Given the description of an element on the screen output the (x, y) to click on. 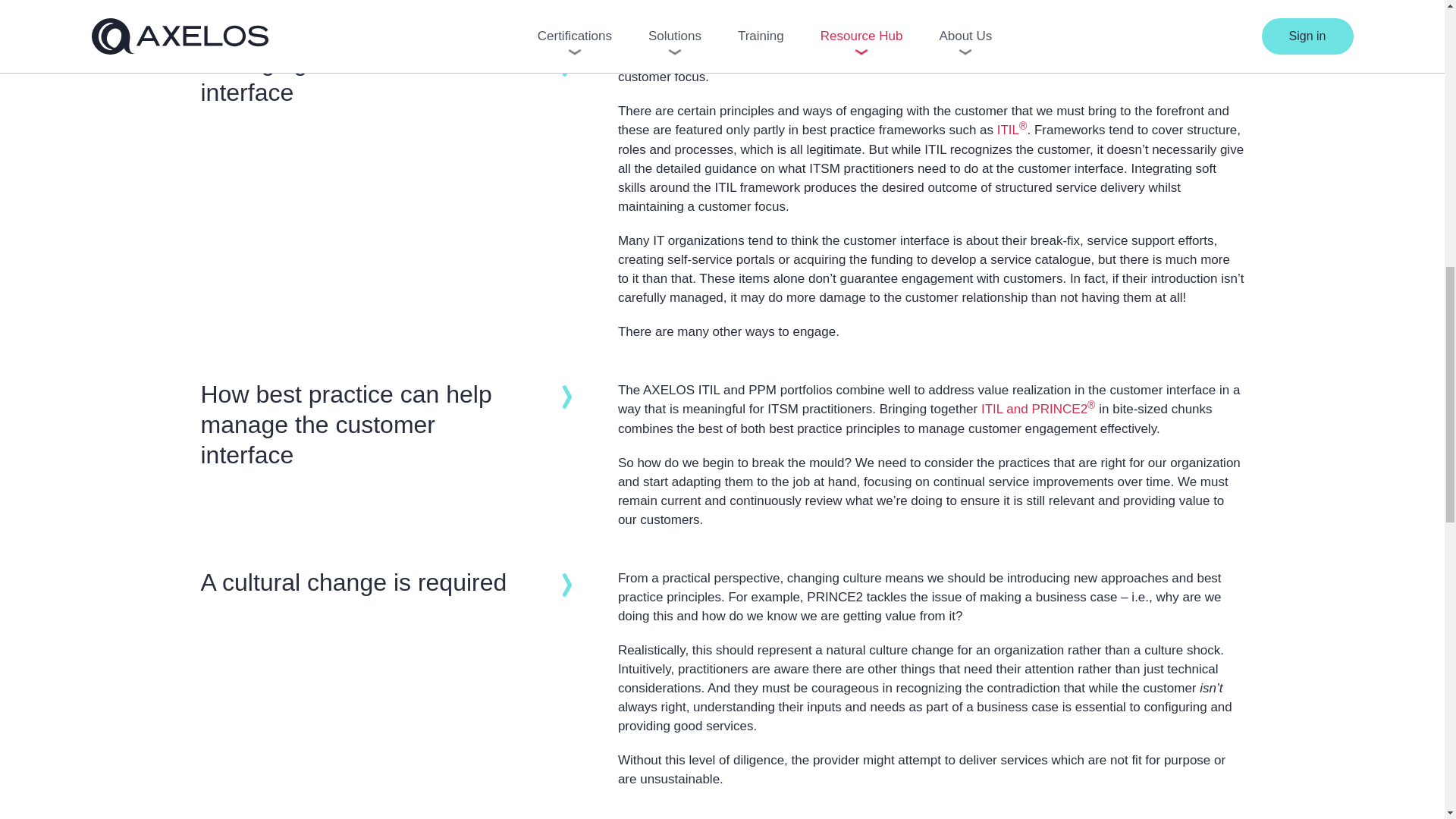
Using ITIL and PRINCE2 together - AXELOS Case Study (1038, 409)
